Given the description of an element on the screen output the (x, y) to click on. 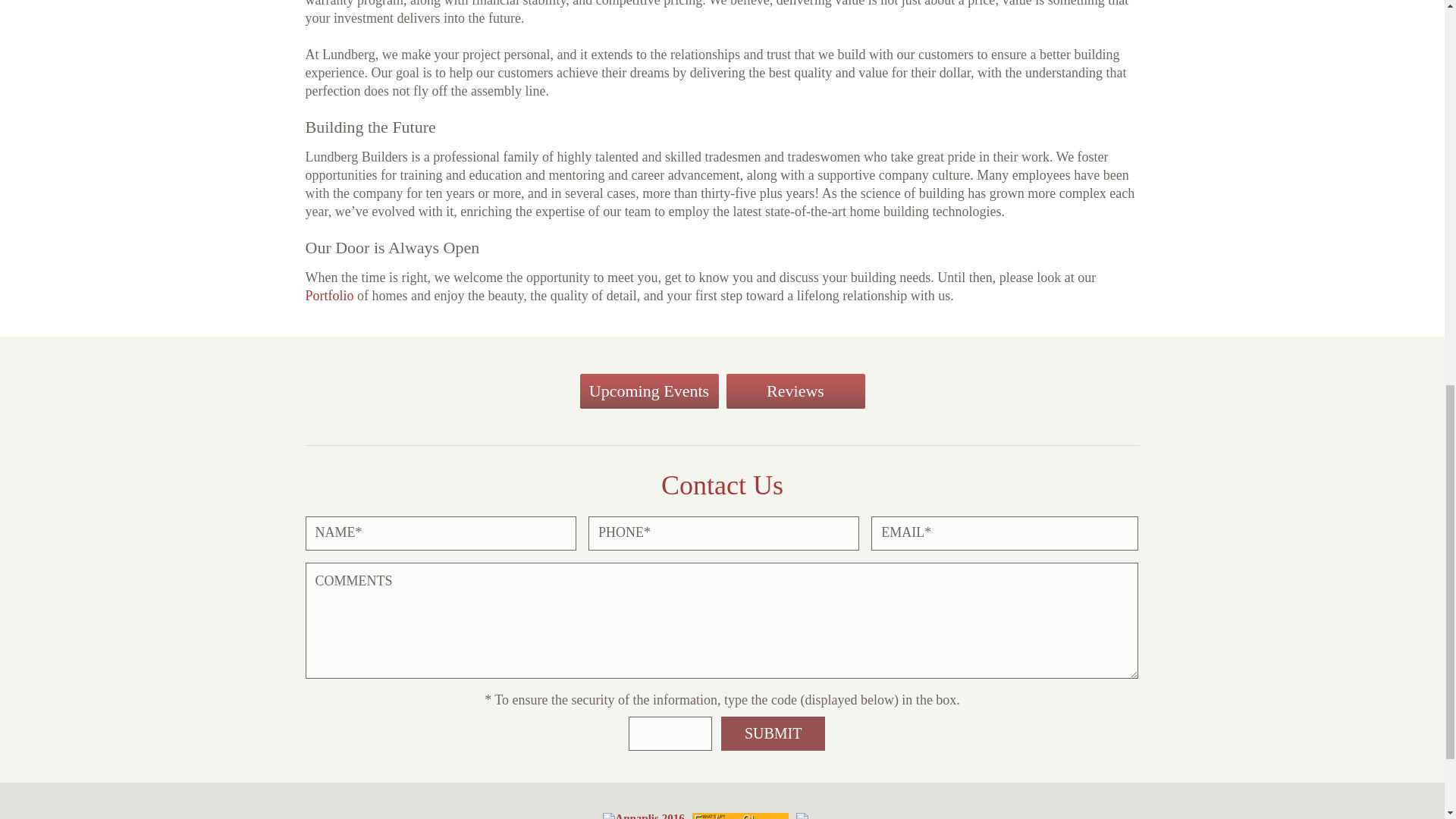
 submit  (772, 733)
Upcoming Events (648, 390)
Portfolio (328, 295)
Reviews (795, 390)
 submit  (772, 733)
